Given the description of an element on the screen output the (x, y) to click on. 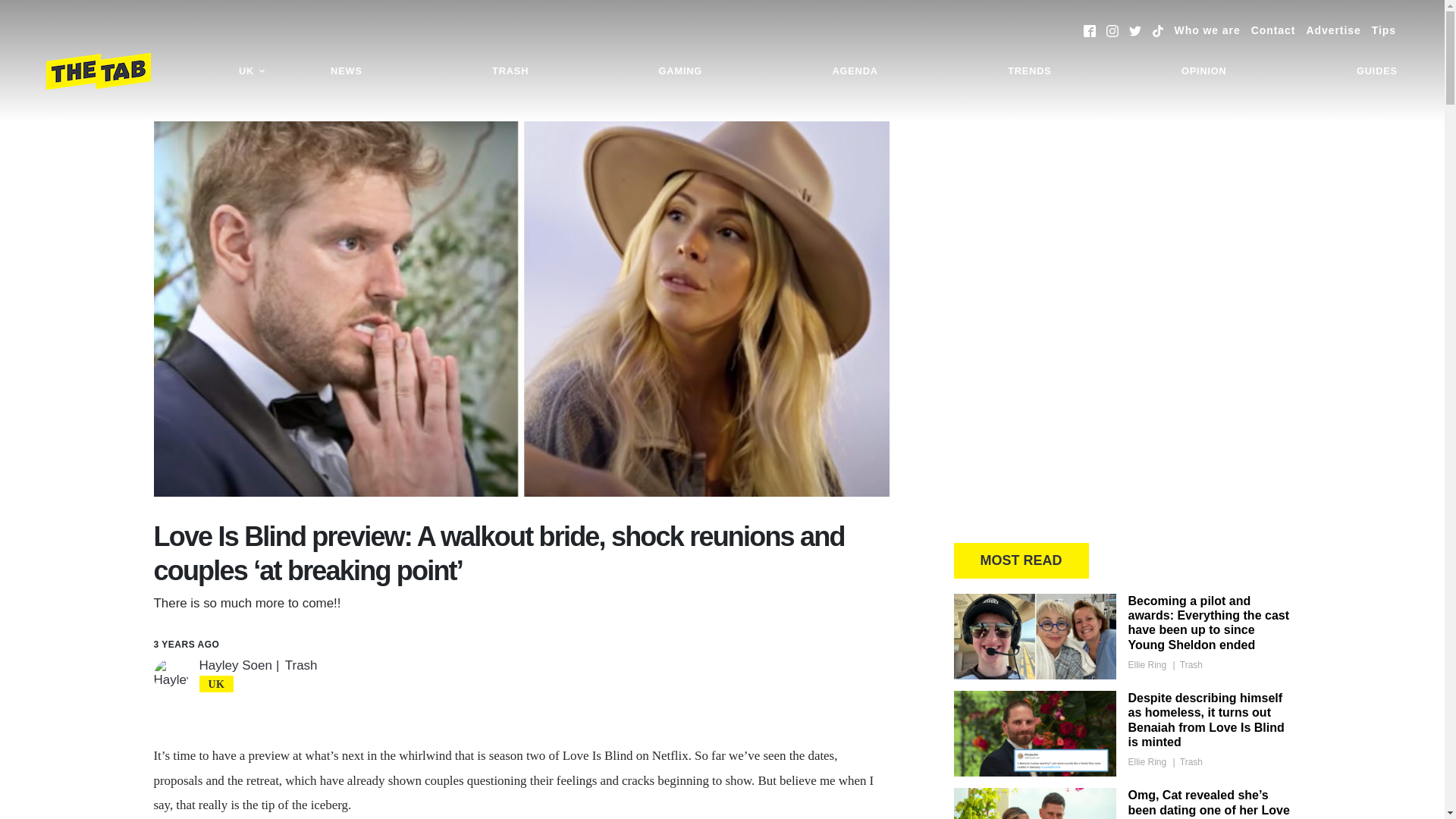
GUIDES (1377, 71)
UK (252, 71)
Who we are (1207, 29)
AGENDA (854, 71)
Contact (1272, 29)
Tips (1383, 29)
OPINION (1204, 71)
GAMING (680, 71)
TRENDS (1028, 71)
TRASH (510, 71)
